Given the description of an element on the screen output the (x, y) to click on. 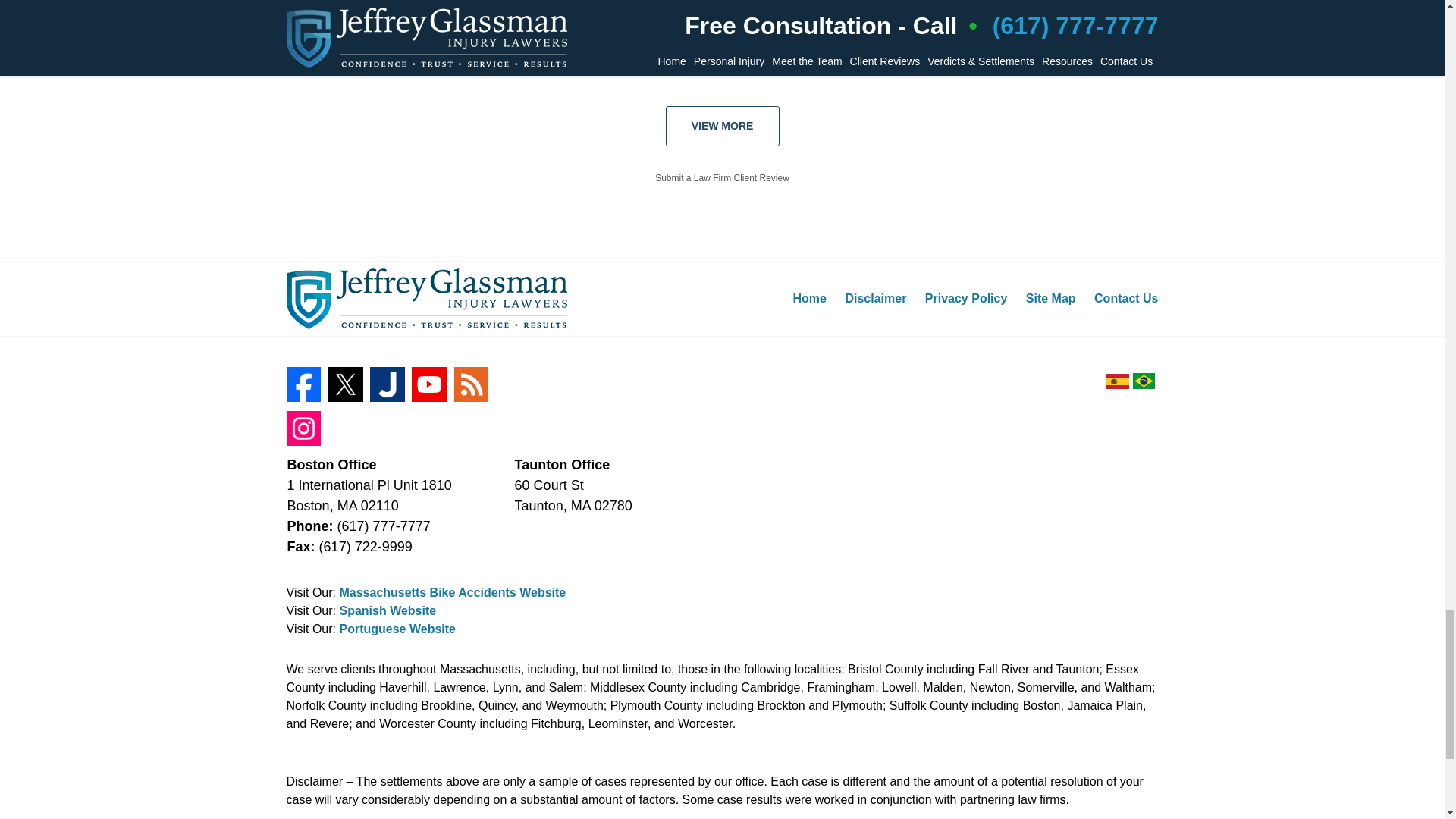
Instagram (303, 428)
YouTube (429, 384)
Feed (471, 384)
Twitter (345, 384)
Facebook (303, 384)
Justia (386, 384)
